Given the description of an element on the screen output the (x, y) to click on. 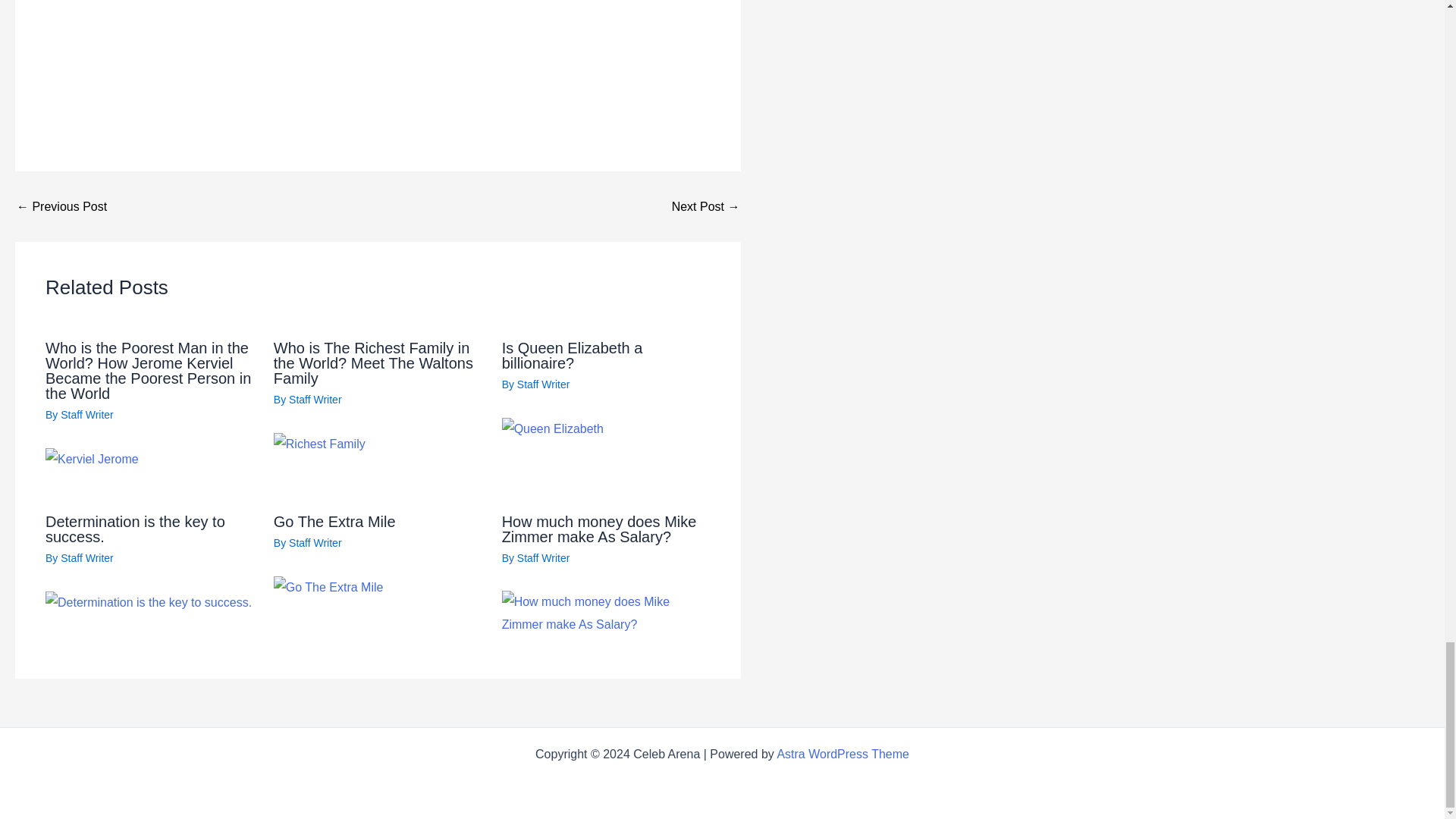
View all posts by Staff Writer (315, 399)
What Happened on the Saturday after Jesus was Crucified? (705, 206)
View all posts by Staff Writer (87, 414)
View all posts by Staff Writer (543, 384)
View all posts by Staff Writer (315, 542)
What did Jesus do the Week Before his Crucifixion? (61, 206)
View all posts by Staff Writer (87, 558)
View all posts by Staff Writer (543, 558)
